Given the description of an element on the screen output the (x, y) to click on. 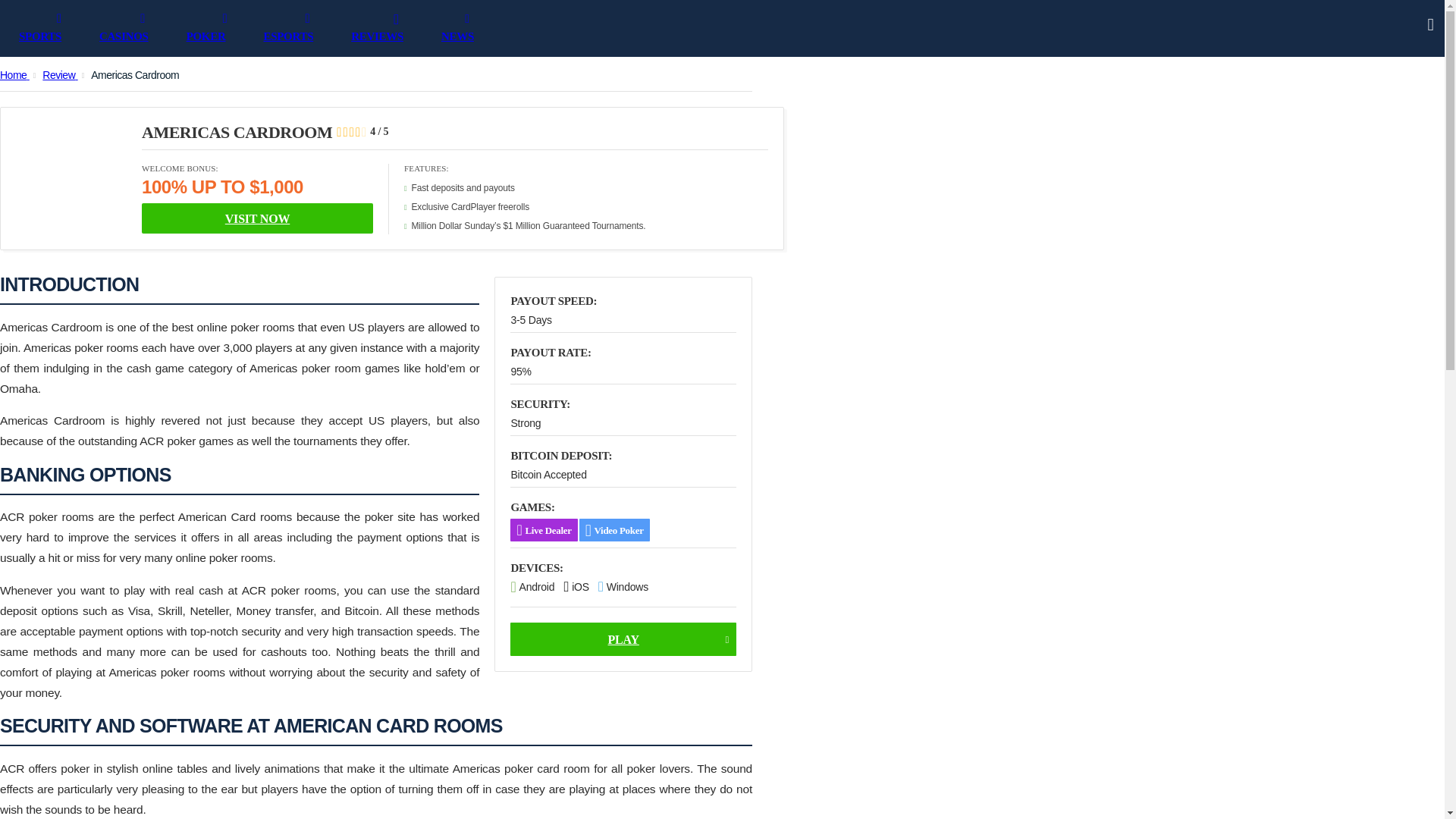
 Sports (58, 32)
SPORTS (58, 32)
CASINOS (142, 32)
Casinos (142, 32)
